Given the description of an element on the screen output the (x, y) to click on. 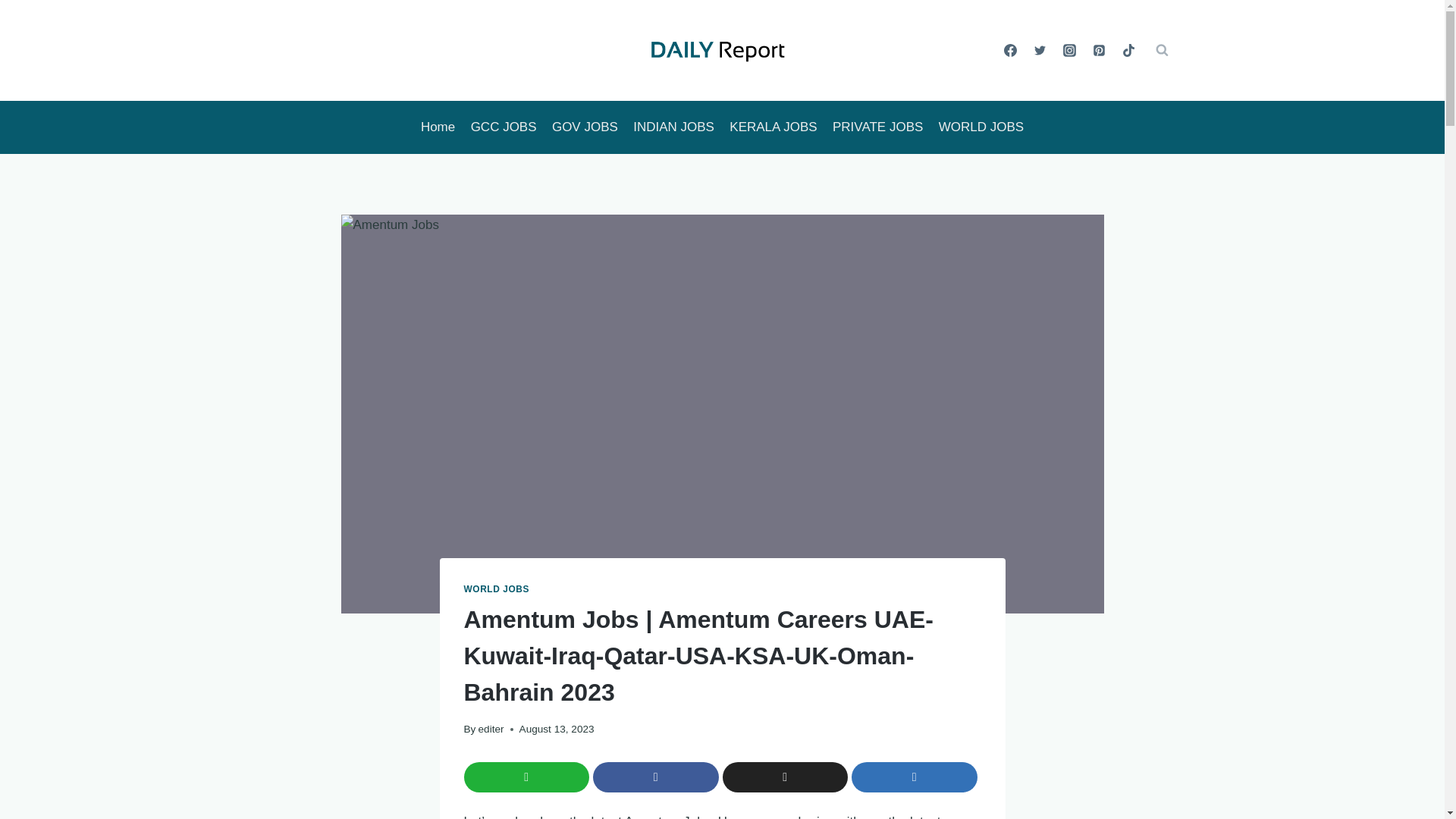
GOV JOBS (585, 126)
WORLD JOBS (496, 588)
GCC JOBS (503, 126)
PRIVATE JOBS (878, 126)
editer (491, 728)
Home (438, 126)
INDIAN JOBS (674, 126)
WORLD JOBS (981, 126)
KERALA JOBS (773, 126)
